Given the description of an element on the screen output the (x, y) to click on. 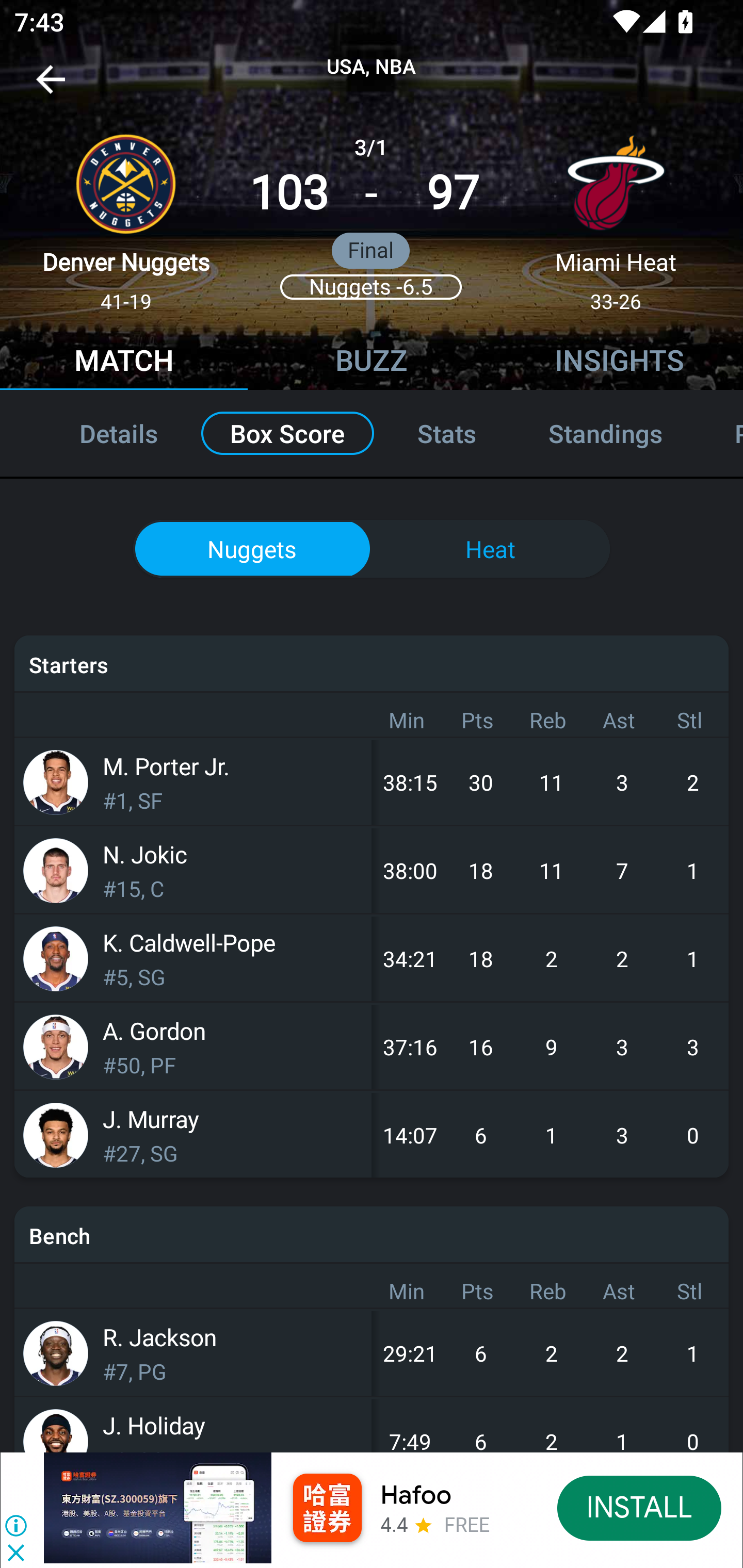
Navigate up (50, 86)
USA, NBA (371, 66)
Denver Nuggets 41-19 (126, 214)
Miami Heat 33-26 (616, 214)
103 (288, 192)
97 (453, 192)
MATCH (123, 362)
BUZZ (371, 362)
INSIGHTS (619, 362)
Details (96, 433)
Stats (446, 433)
Standings (605, 433)
Heat (490, 548)
M. Porter Jr. #1, SF (192, 782)
N. Jokic #15, C (192, 869)
K. Caldwell-Pope #5, SG (192, 958)
A. Gordon #50, PF (192, 1047)
J. Murray #27, SG (192, 1134)
R. Jackson #7, PG (192, 1352)
J. Holiday #9, SG (192, 1424)
INSTALL (639, 1507)
Hafoo (416, 1494)
